Given the description of an element on the screen output the (x, y) to click on. 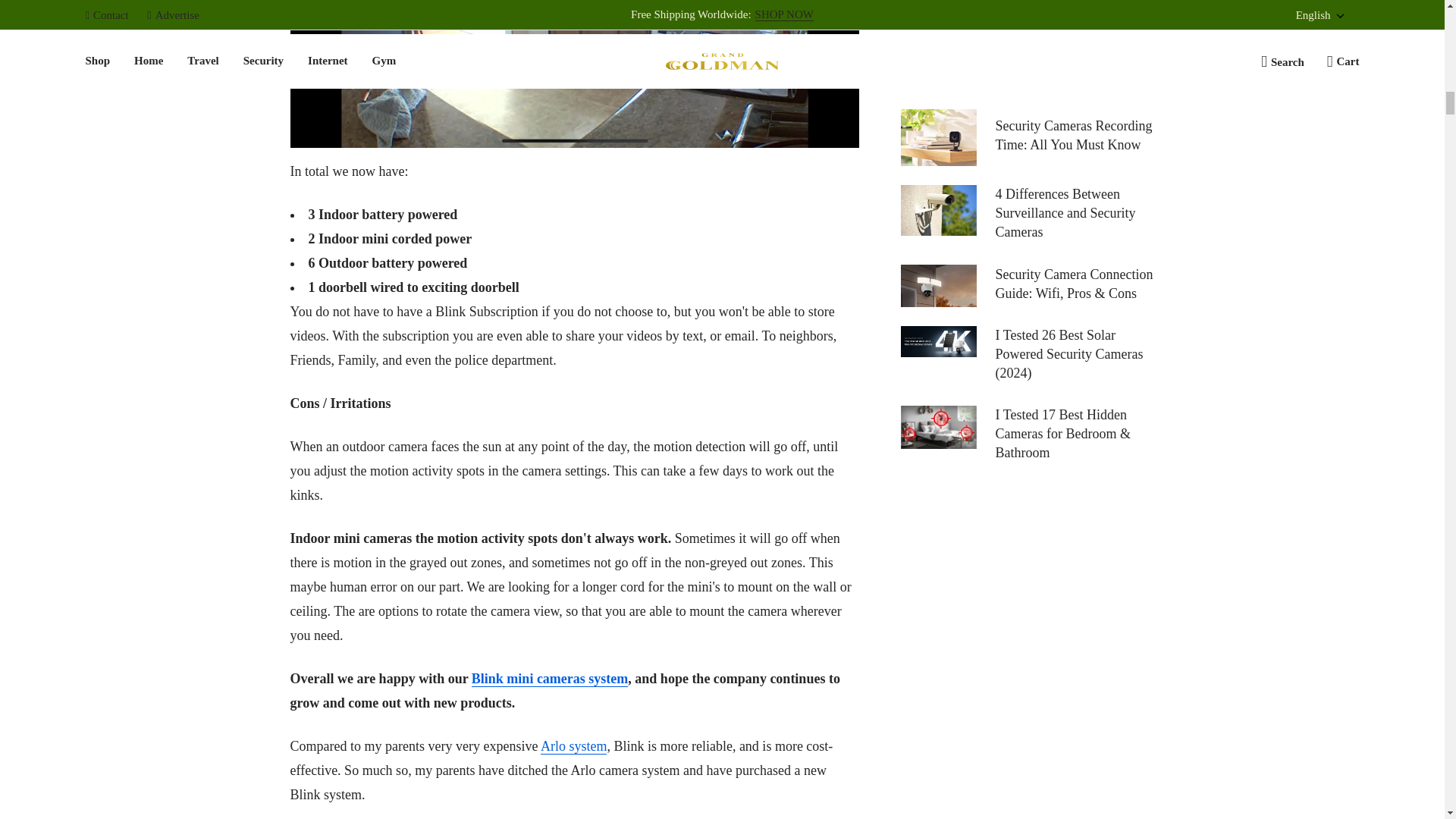
Arlo system (573, 746)
Blink mini cameras system (549, 678)
